Given the description of an element on the screen output the (x, y) to click on. 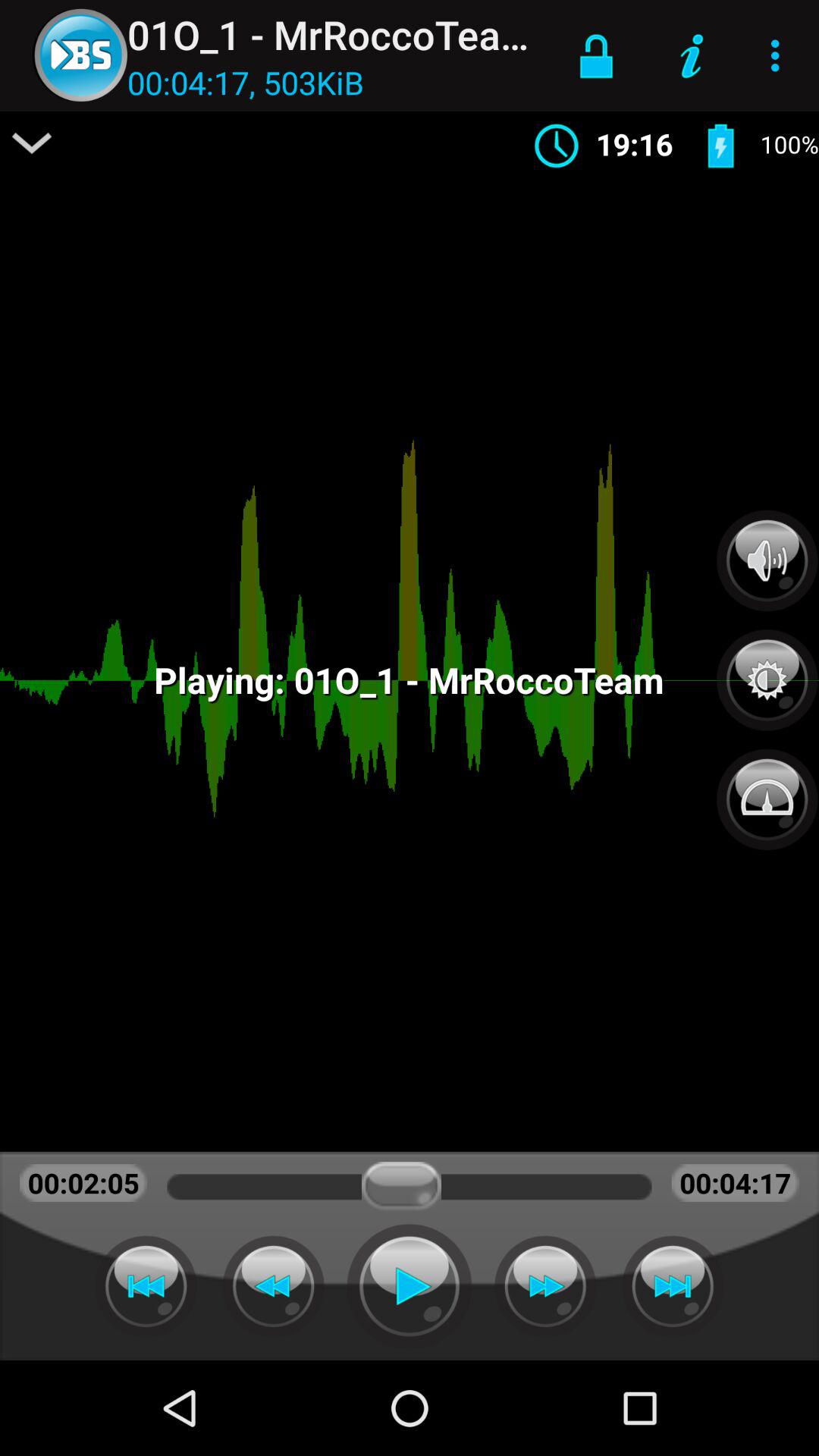
adjust contrast (767, 671)
